Given the description of an element on the screen output the (x, y) to click on. 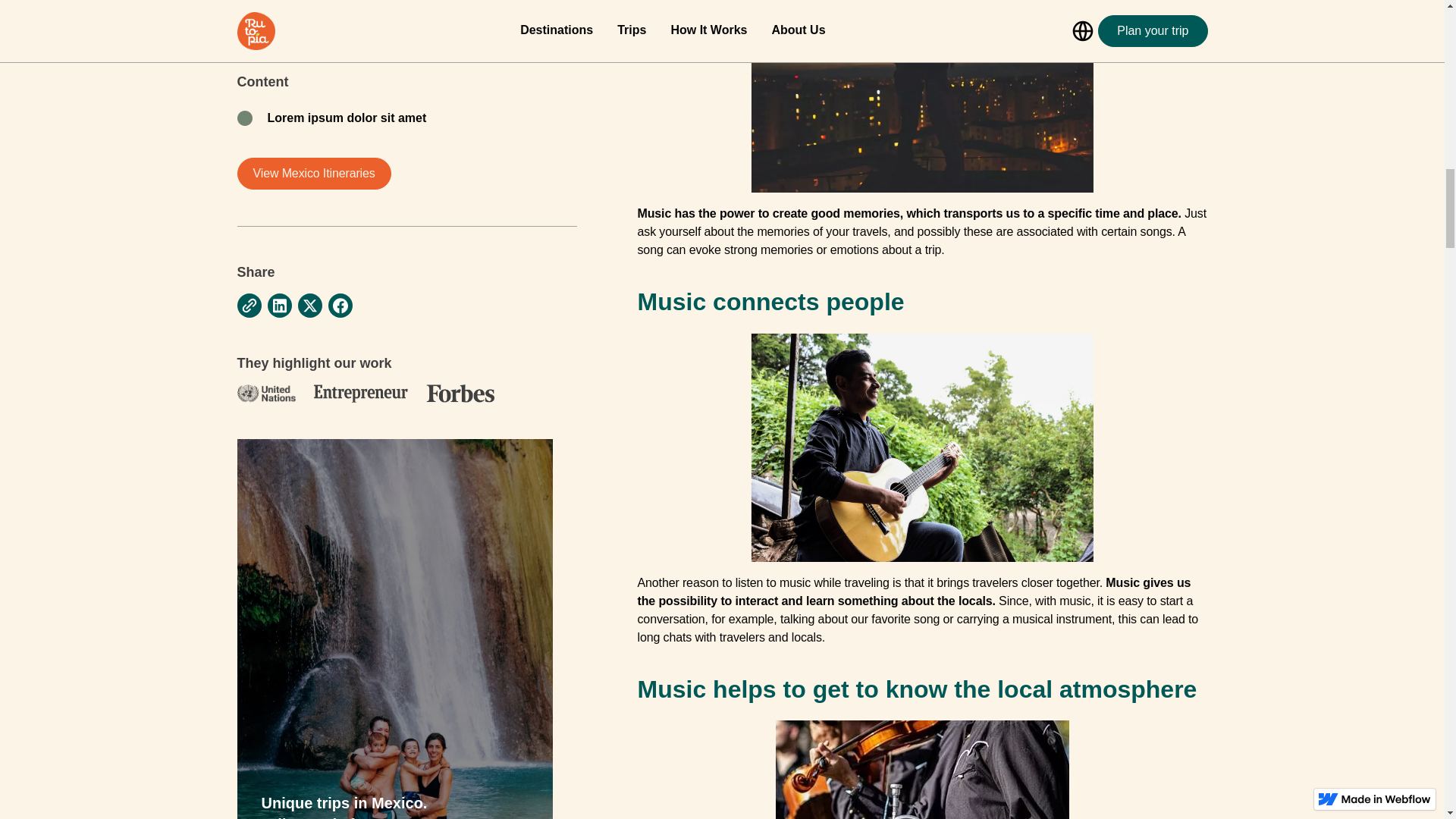
Request your trip (322, 33)
